Given the description of an element on the screen output the (x, y) to click on. 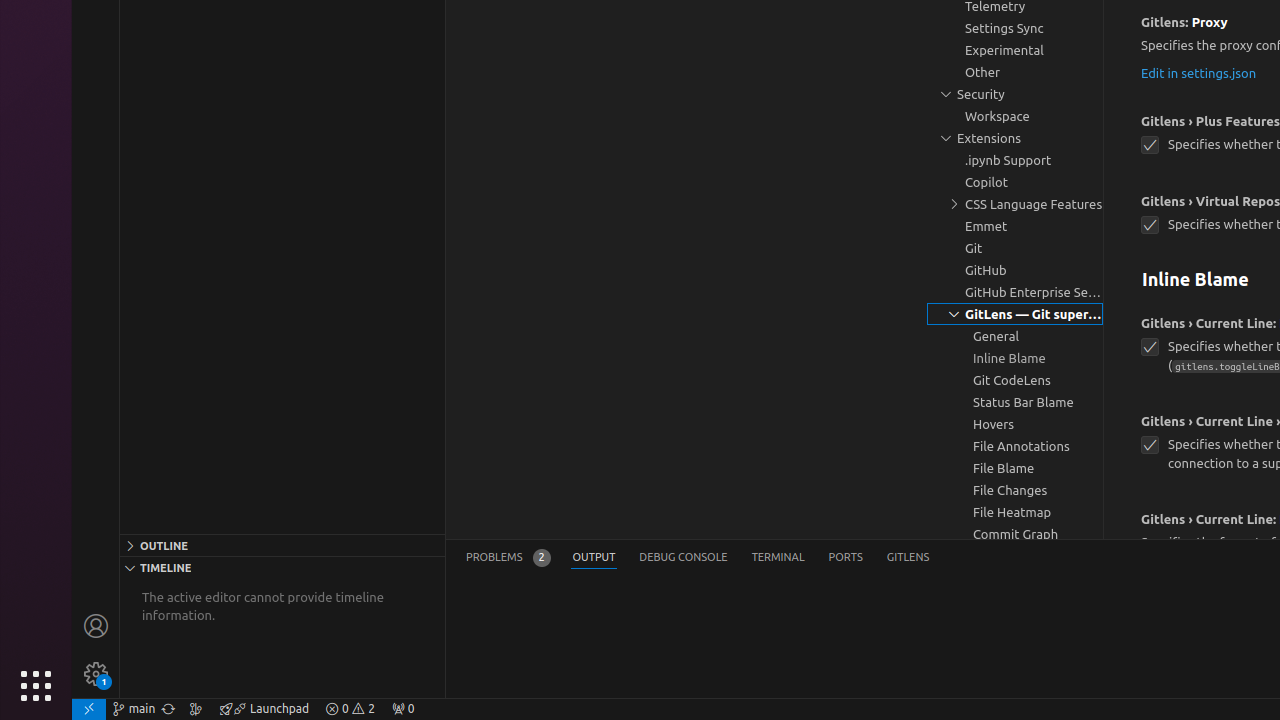
Experimental, group Element type: tree-item (1015, 50)
Hovers, group Element type: tree-item (1015, 424)
Show the GitLens Commit Graph Element type: push-button (196, 709)
Extensions, group Element type: tree-item (1015, 138)
Debug Console (Ctrl+Shift+Y) Element type: page-tab (683, 557)
